Given the description of an element on the screen output the (x, y) to click on. 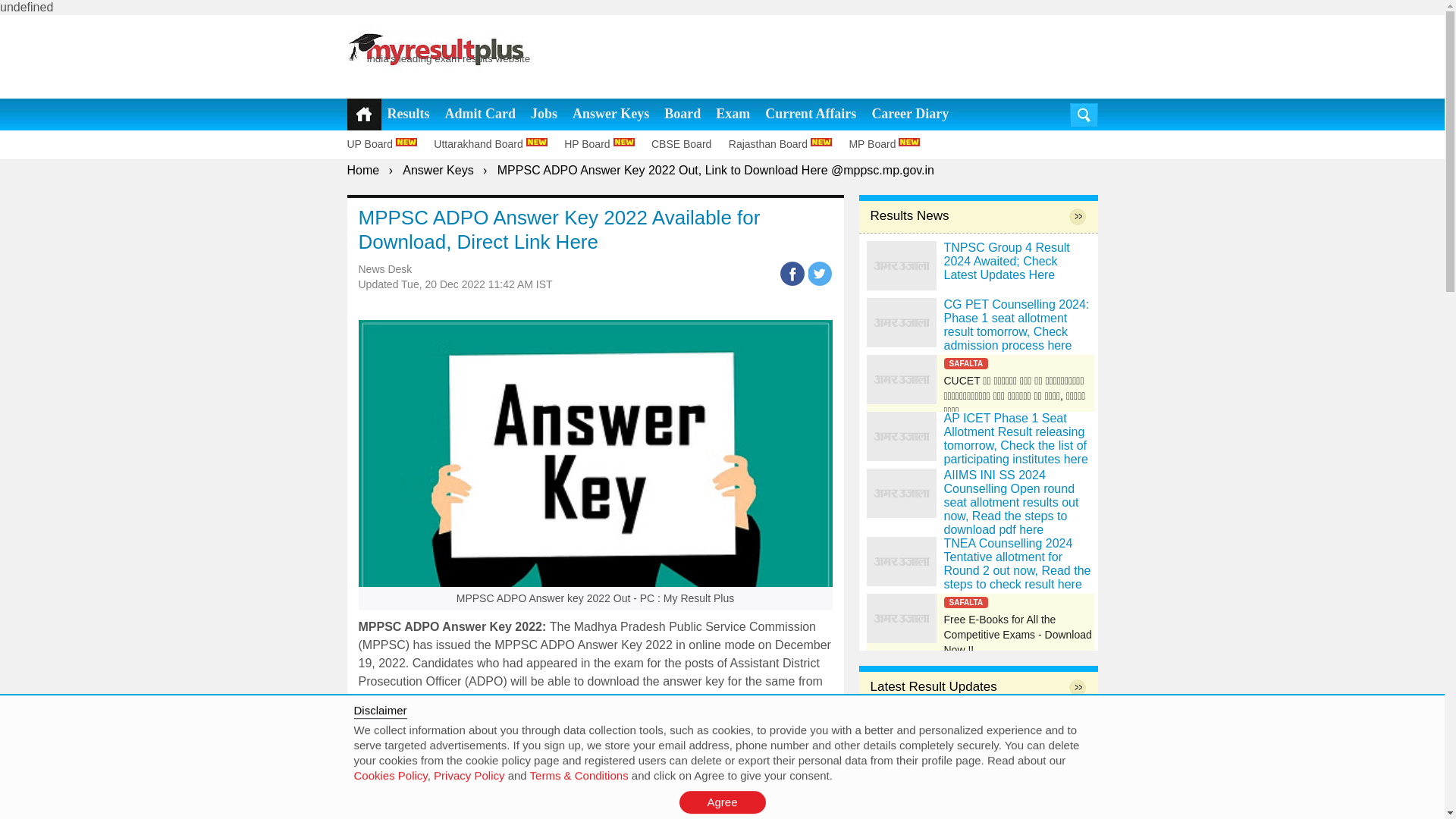
Answer Keys (438, 170)
UP Board (388, 143)
TNPSC Group 4 Result 2024 Awaited; Check Latest Updates Here (901, 265)
Answer Keys (610, 113)
Career Diary (909, 113)
CBSE Board (687, 143)
Free E-Books for All the Competitive Exams - Download Now !! (979, 618)
Jobs (543, 113)
